Given the description of an element on the screen output the (x, y) to click on. 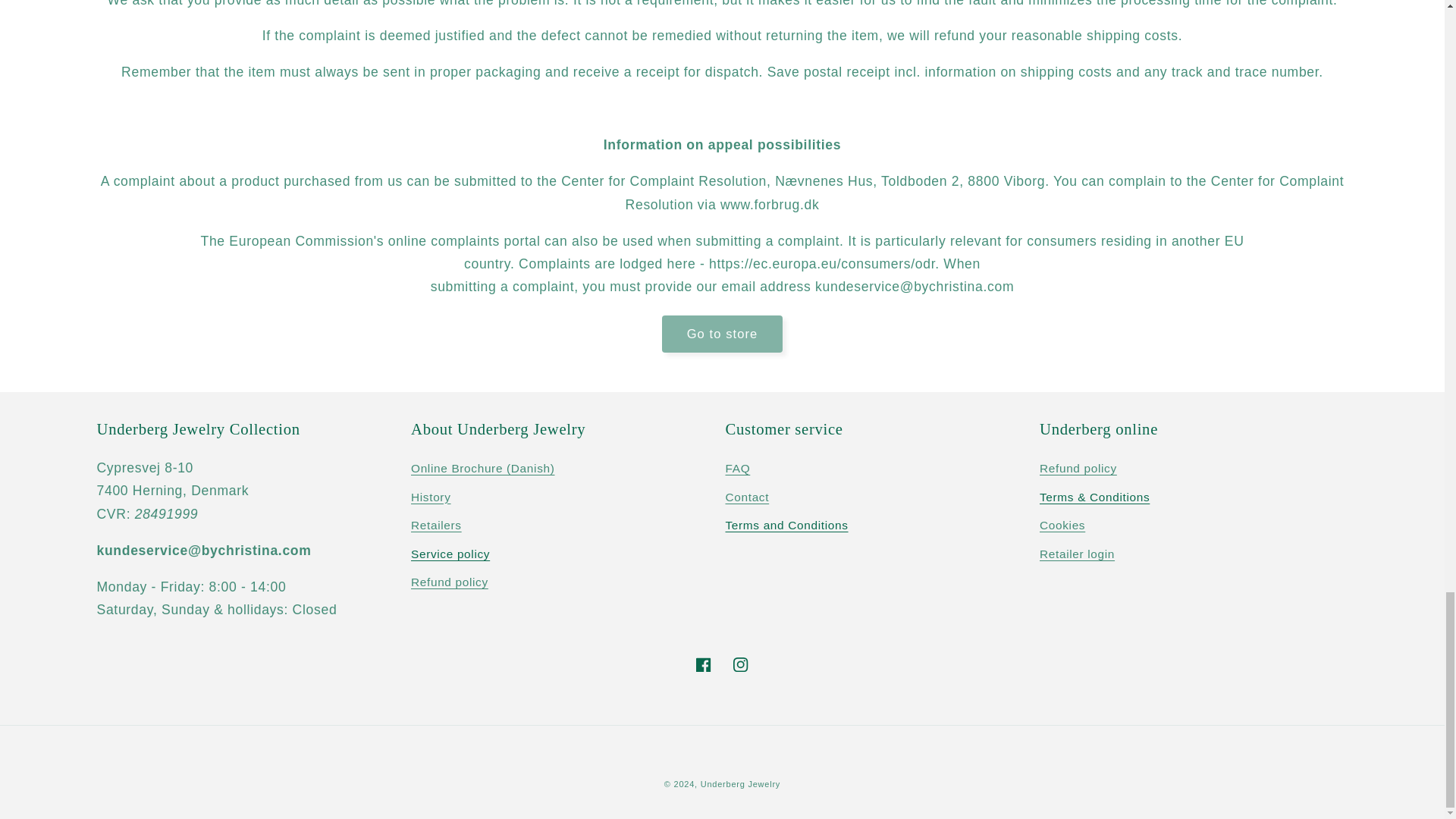
Go to store (722, 333)
Contact (746, 497)
Service policy (449, 553)
Refund policy (448, 582)
Refund policy (1077, 470)
Cookies (1061, 525)
Terms and Conditions (786, 525)
History (430, 497)
FAQ (737, 470)
Retailers (435, 525)
